Given the description of an element on the screen output the (x, y) to click on. 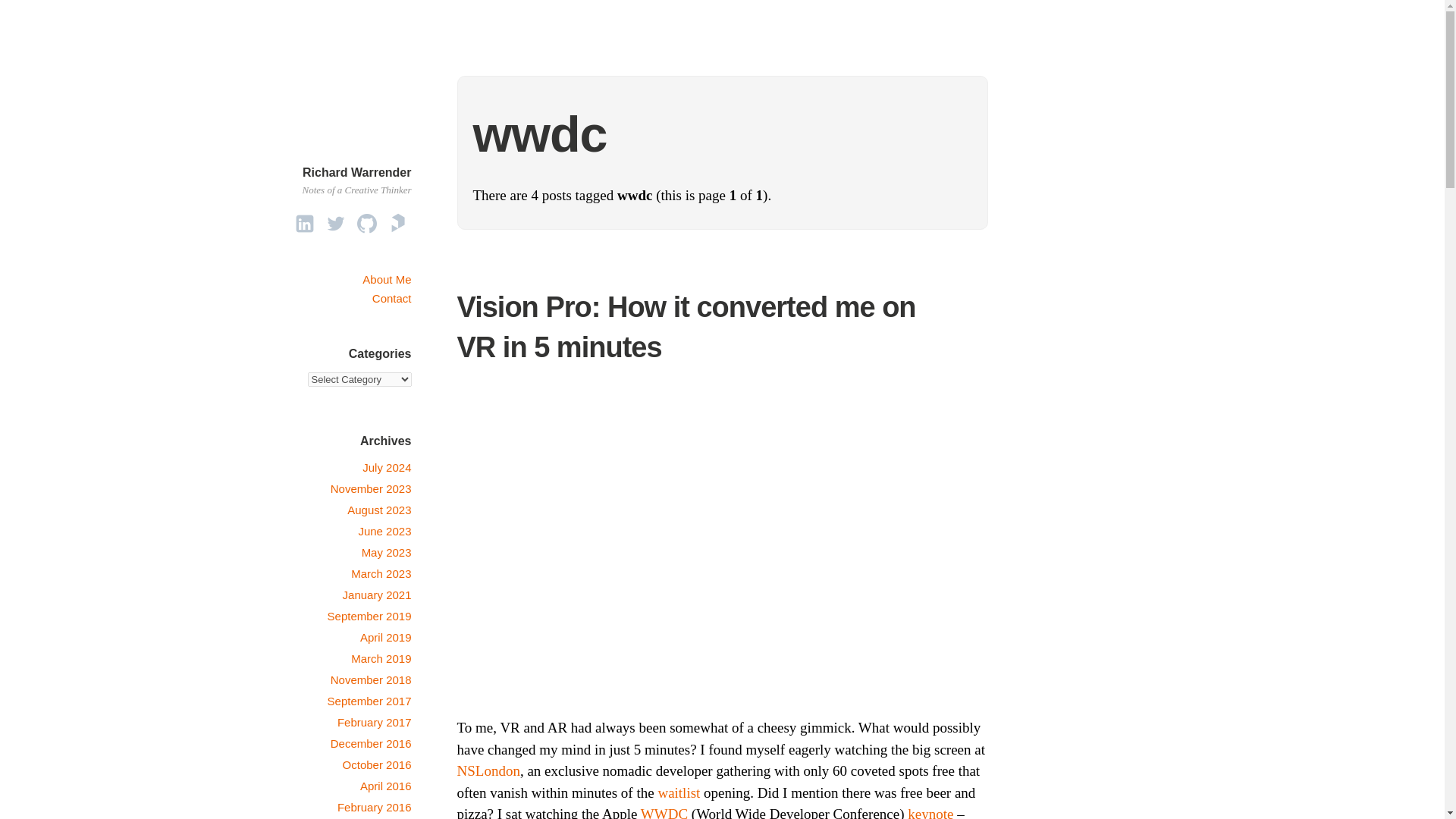
Richard Warrender (356, 171)
WWDC (663, 812)
Follow me on LinkedIn (304, 222)
NSLondon (488, 770)
About Me (386, 278)
Richard Warrender (356, 171)
Collaborate with me on GitHub (366, 222)
Print my designs on Printables (397, 222)
waitlist (679, 792)
Vision Pro: How it converted me on VR in 5 minutes (686, 327)
Contact (392, 297)
Richard Warrender (372, 153)
keynote (930, 812)
